Given the description of an element on the screen output the (x, y) to click on. 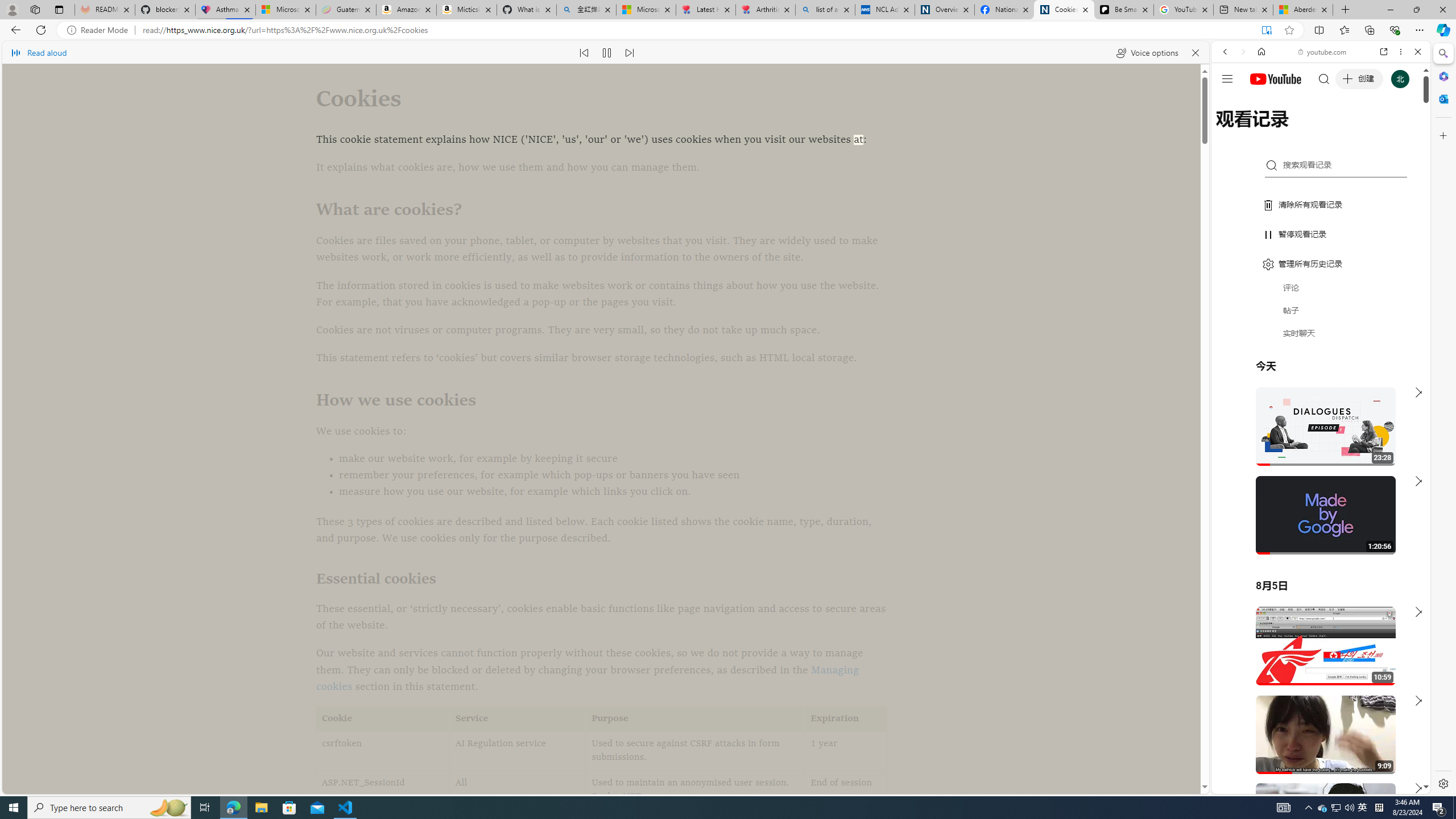
Music (1320, 309)
list of asthma inhalers uk - Search (825, 9)
